Given the description of an element on the screen output the (x, y) to click on. 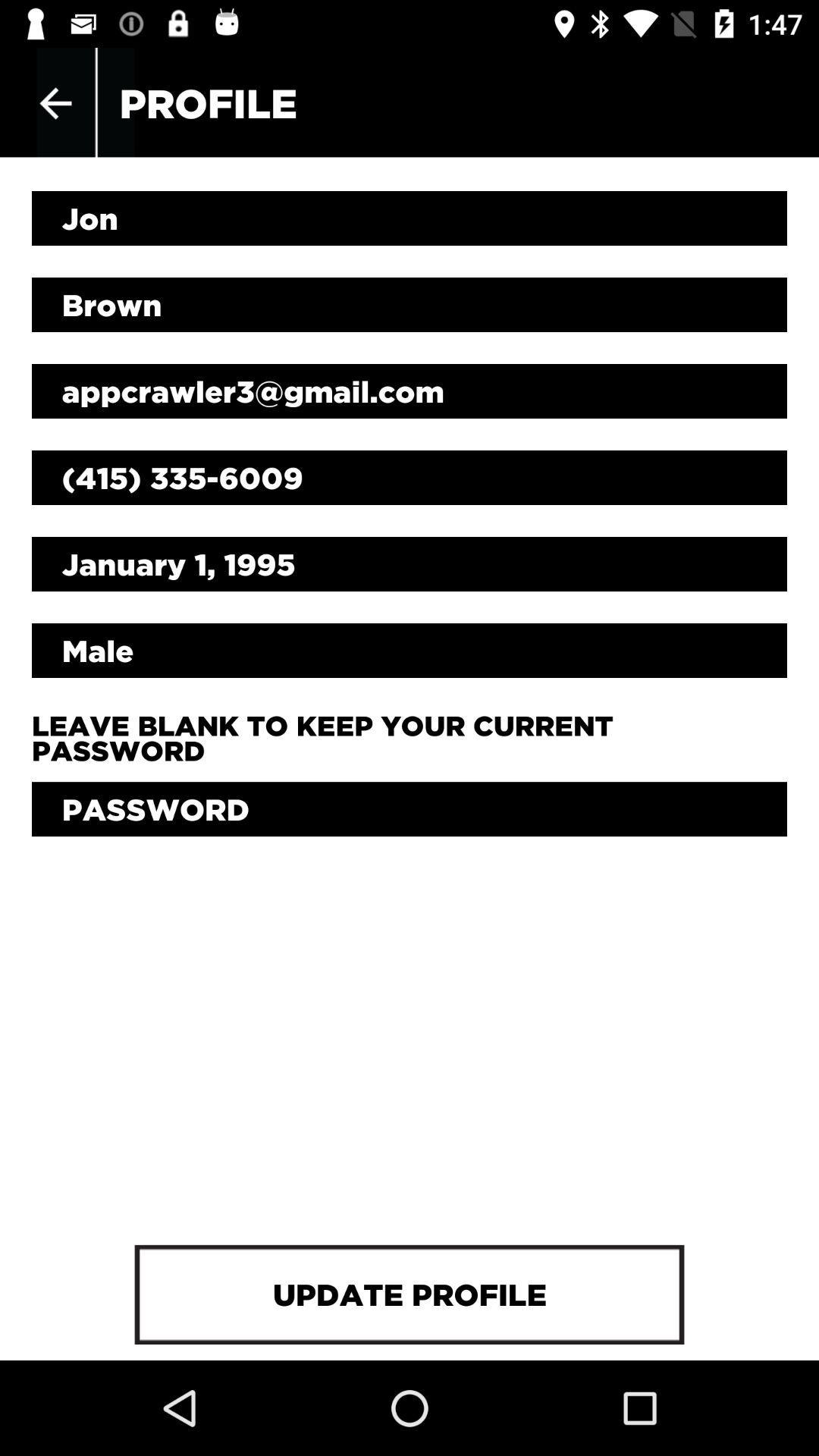
swipe until update profile item (409, 1294)
